Given the description of an element on the screen output the (x, y) to click on. 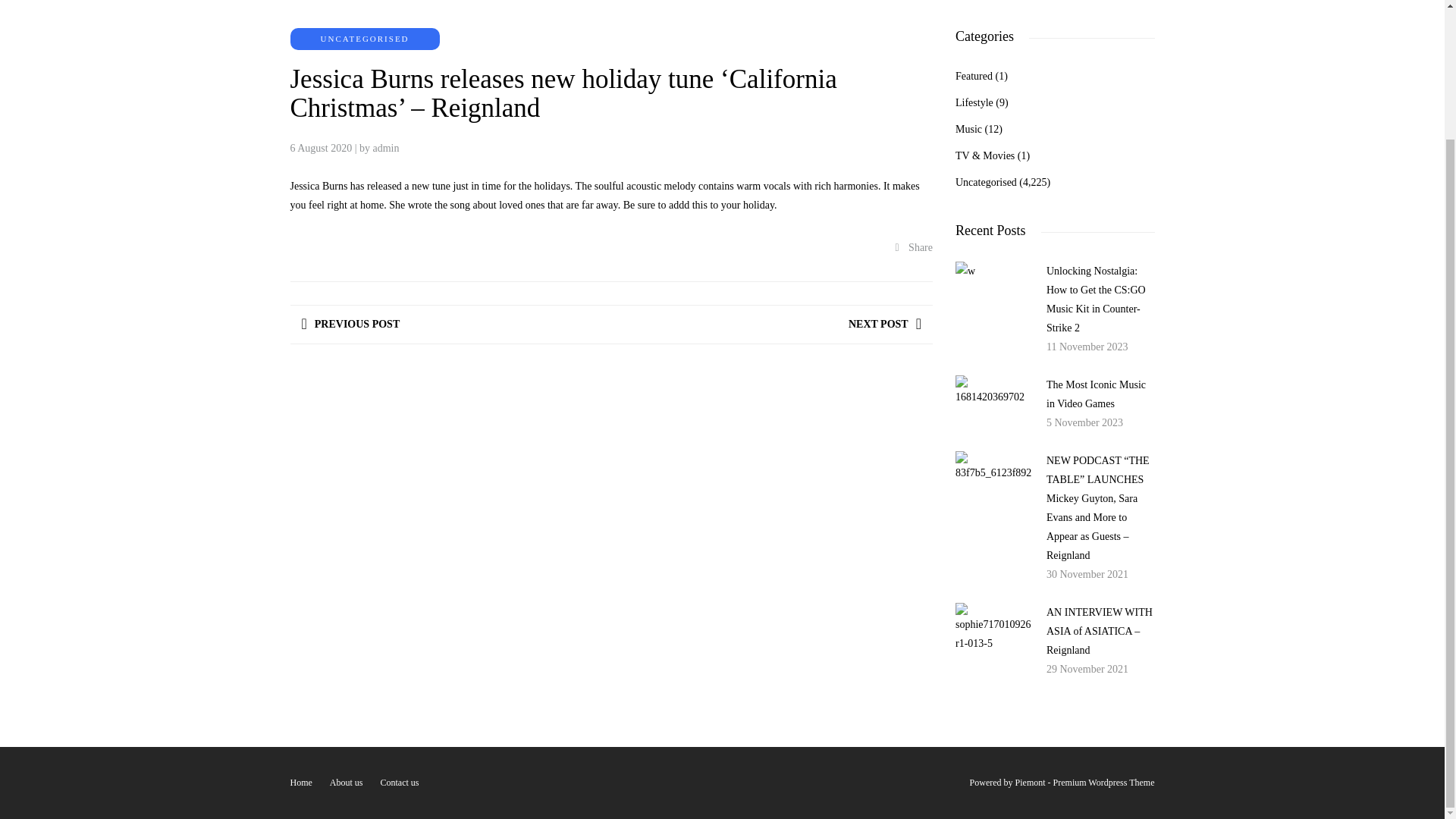
PREVIOUS POST (350, 324)
Uncategorised (985, 182)
The Most Iconic Music in Video Games (1095, 394)
NEXT POST (884, 324)
UNCATEGORISED (364, 38)
About us (346, 782)
Music (968, 129)
Share (914, 247)
Contact us (399, 782)
